Given the description of an element on the screen output the (x, y) to click on. 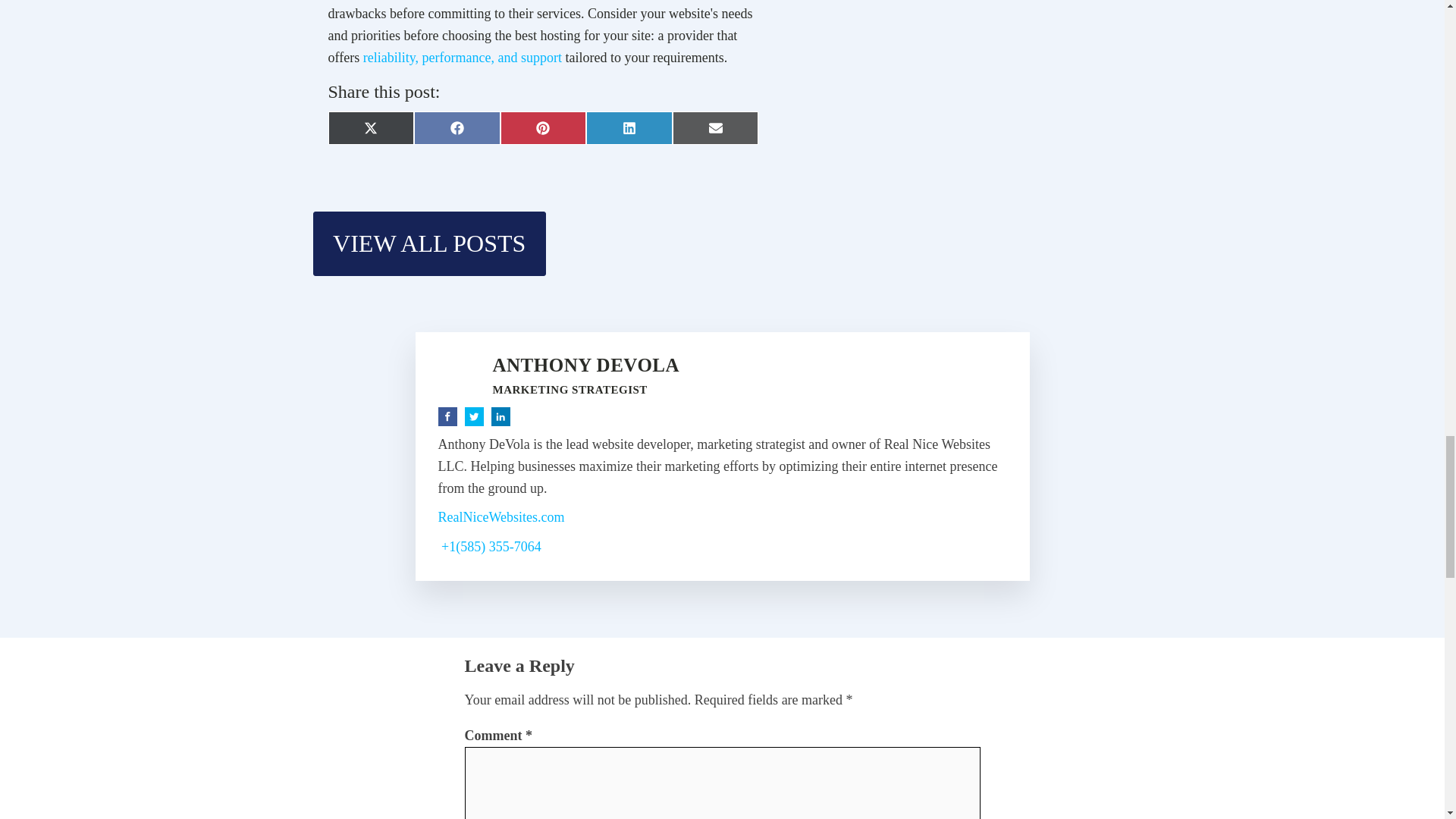
Share on Email (715, 127)
reliability, performance, and support (462, 57)
Share on Pinterest (543, 127)
Share on Facebook (456, 127)
Share on LinkedIn (629, 127)
